Given the description of an element on the screen output the (x, y) to click on. 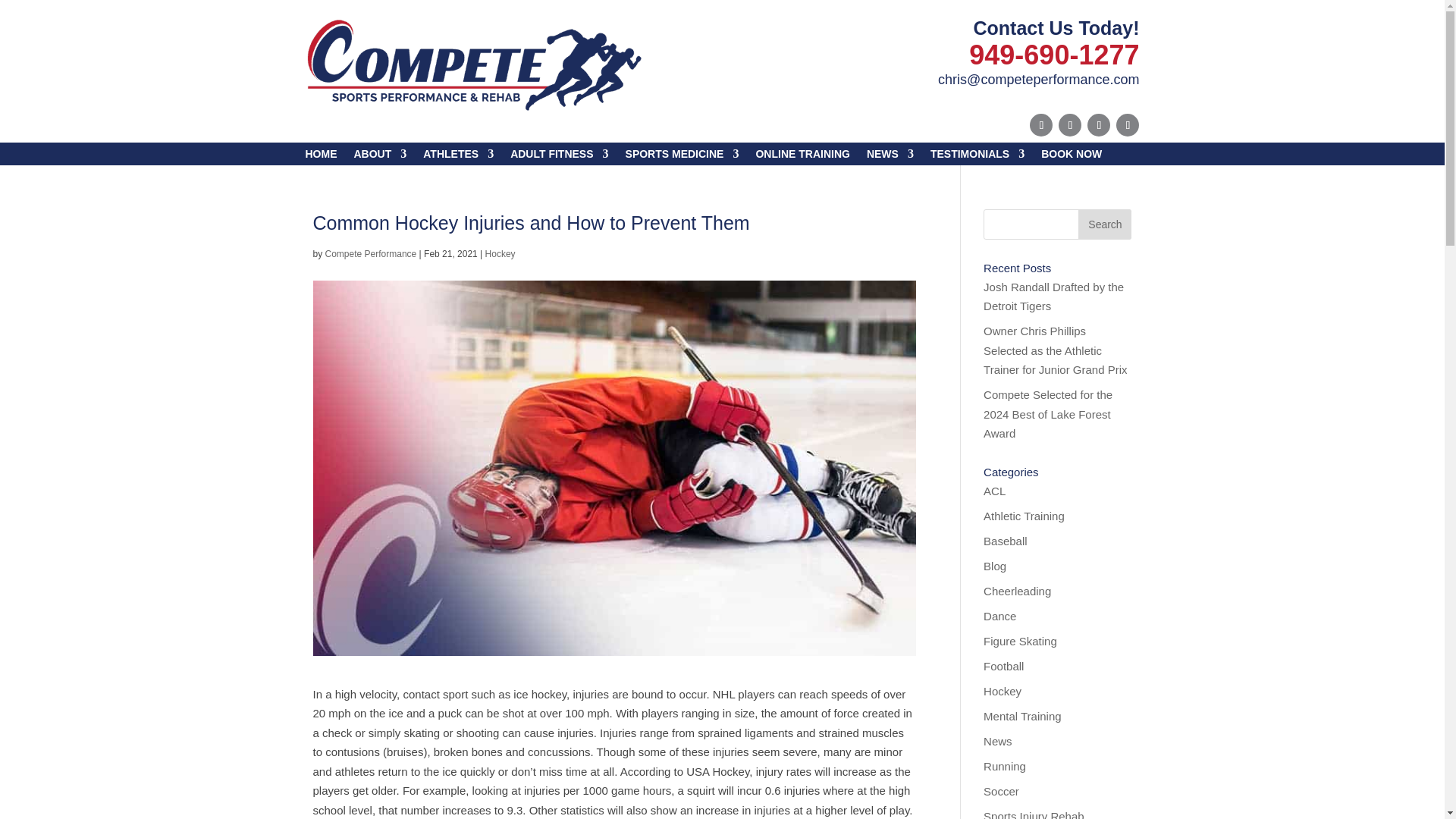
Follow on Instagram (1127, 124)
ATHLETES (458, 156)
Search (1104, 224)
TESTIMONIALS (977, 156)
BOOK NOW (1071, 156)
Follow on Facebook (1040, 124)
ONLINE TRAINING (801, 156)
NEWS (890, 156)
ADULT FITNESS (559, 156)
SPORTS MEDICINE (682, 156)
Posts by Compete Performance (370, 253)
Follow on Twitter (1069, 124)
Follow on Youtube (1098, 124)
ABOUT (379, 156)
HOME (320, 156)
